Given the description of an element on the screen output the (x, y) to click on. 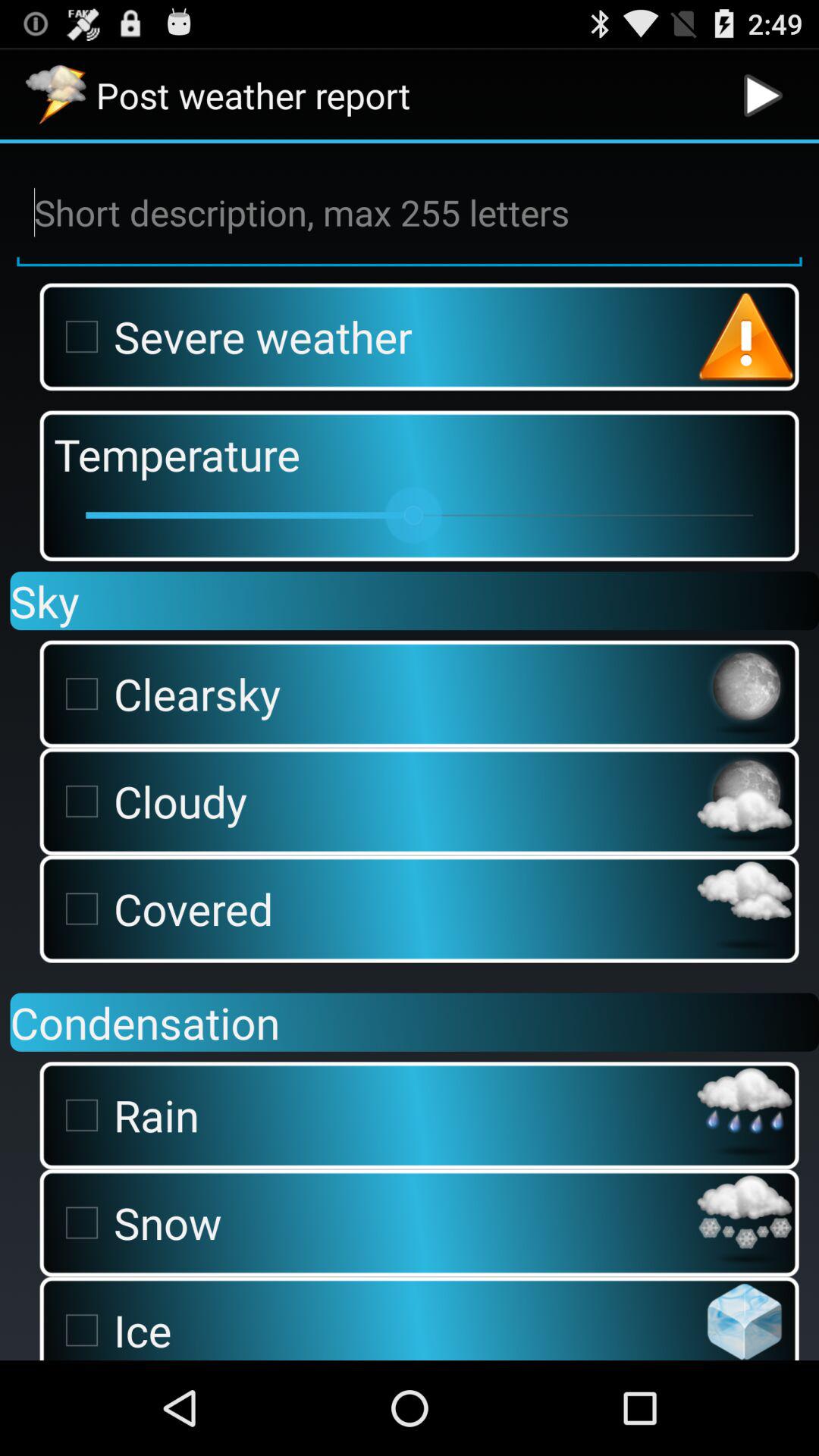
type weather report description (409, 213)
